Given the description of an element on the screen output the (x, y) to click on. 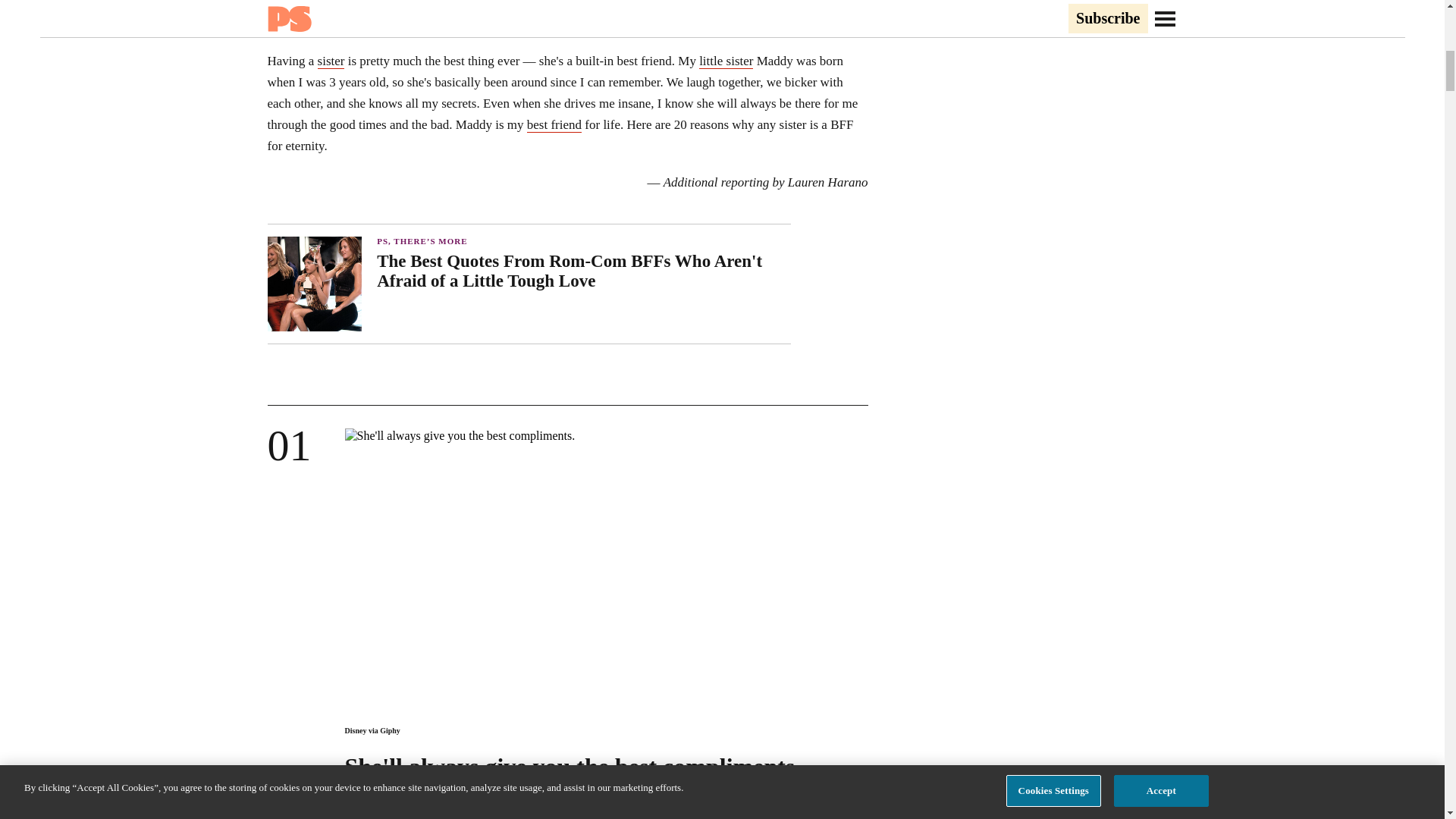
little sister (725, 61)
sister (331, 61)
best friend (553, 124)
Disney via Giphy (370, 730)
